Given the description of an element on the screen output the (x, y) to click on. 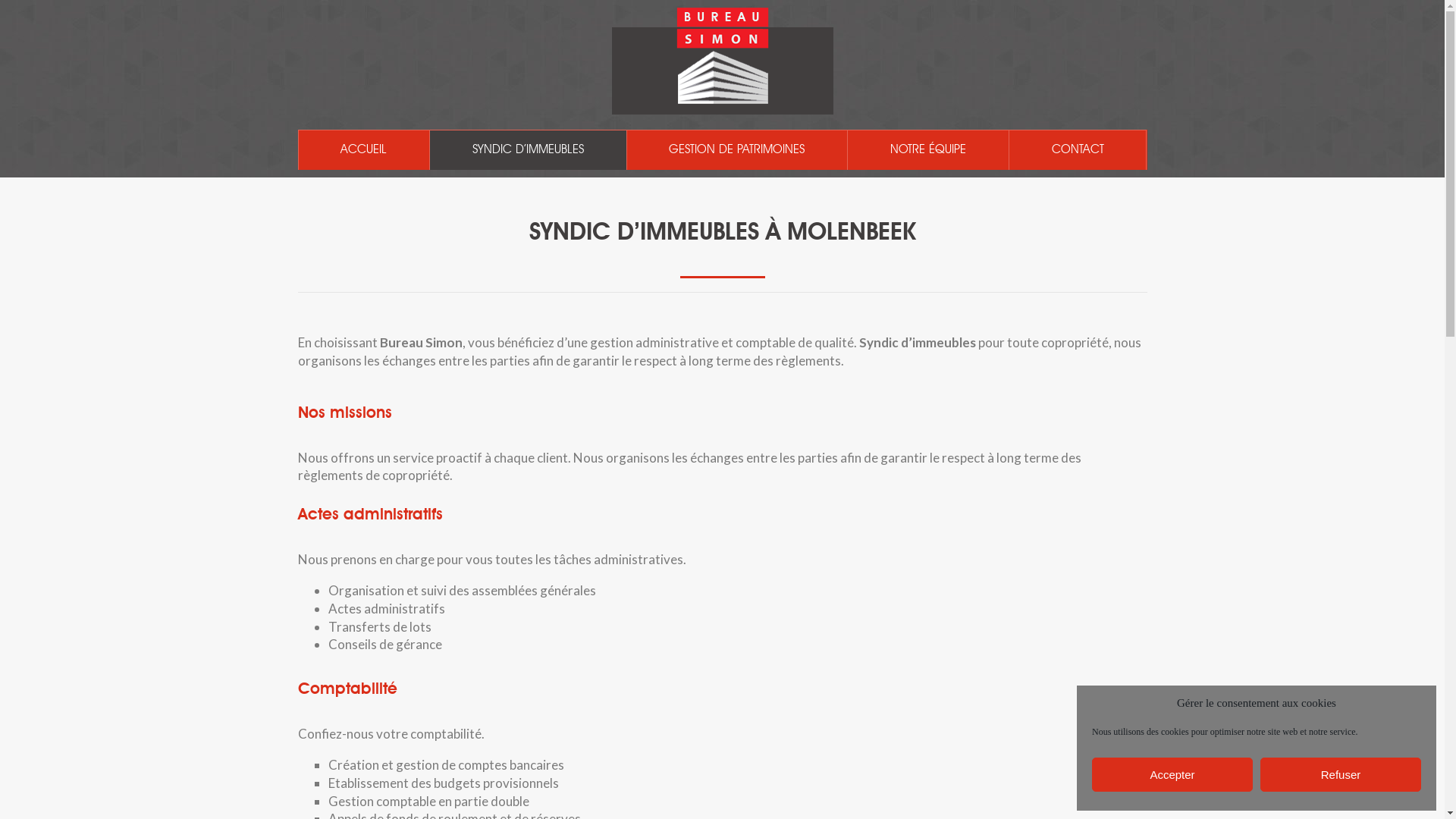
CONTACT Element type: text (1077, 149)
ACCUEIL Element type: text (363, 149)
Accepter Element type: text (1172, 774)
Refuser Element type: text (1340, 774)
GESTION DE PATRIMOINES Element type: text (737, 149)
